Given the description of an element on the screen output the (x, y) to click on. 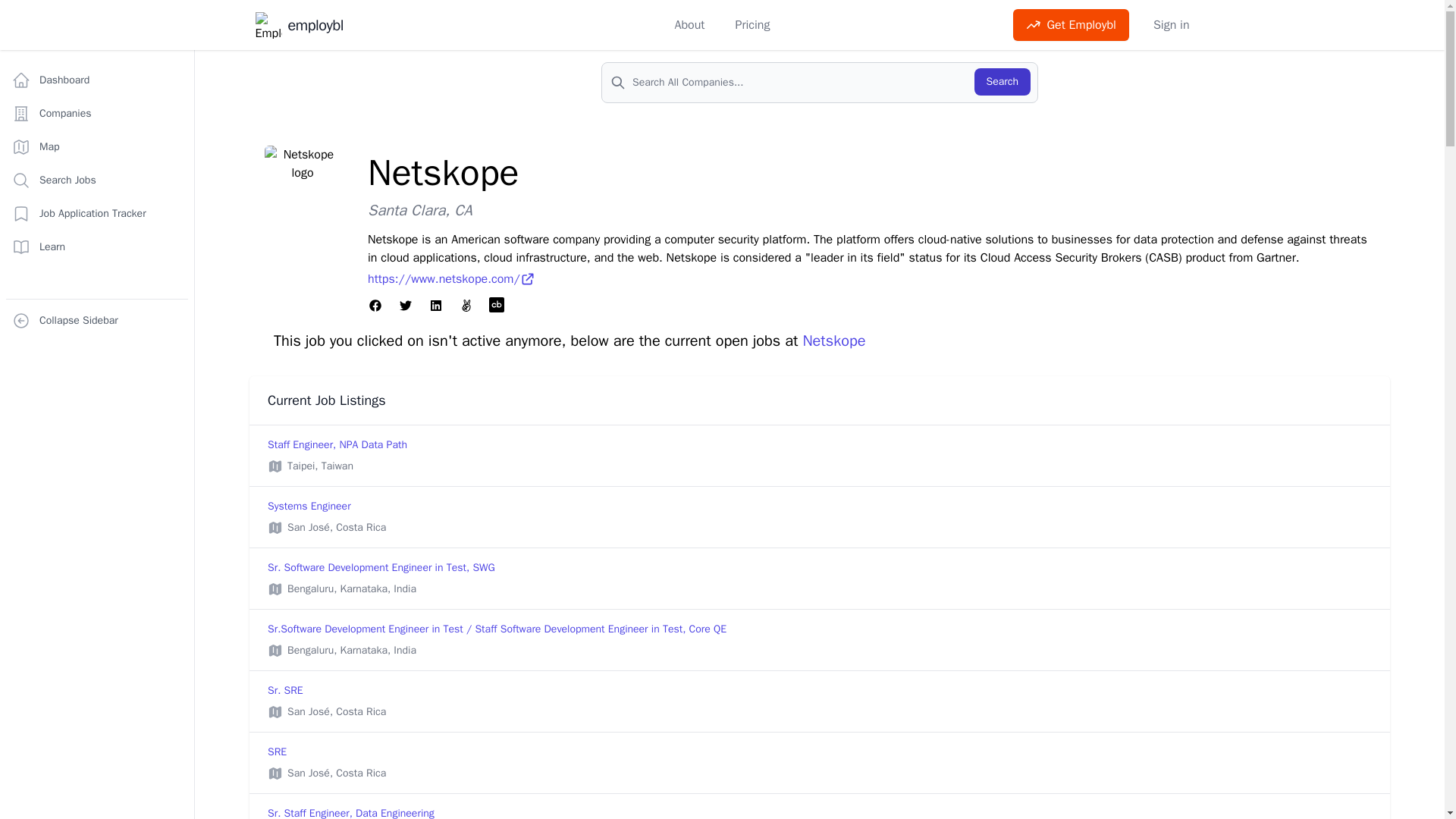
Dashboard (298, 25)
LinkedIn (96, 80)
Companies (436, 305)
Search Jobs (96, 113)
Collapse Sidebar (96, 180)
Search (96, 320)
Twitter (1002, 81)
